Given the description of an element on the screen output the (x, y) to click on. 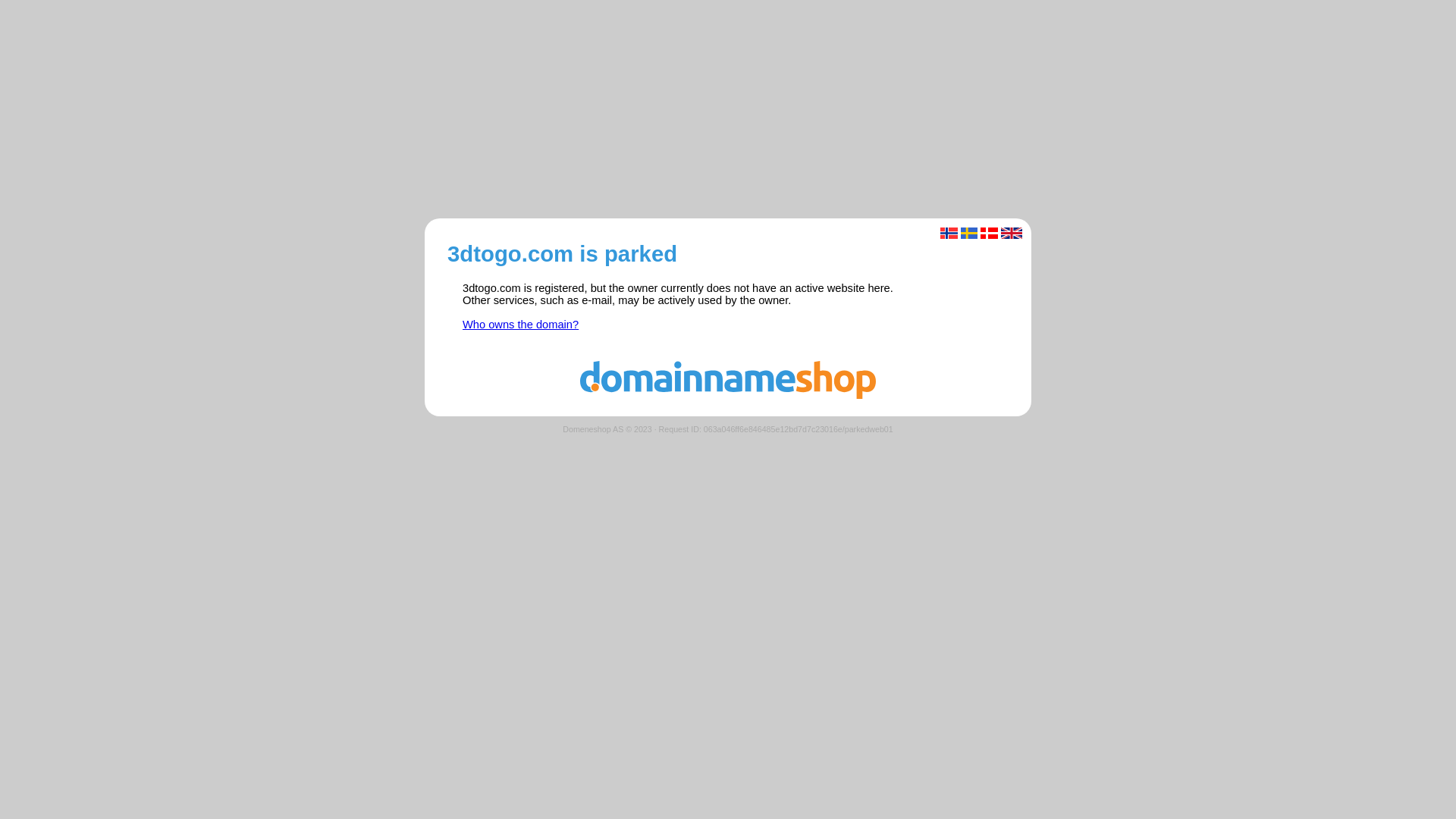
Dansk Element type: hover (988, 232)
Svenska Element type: hover (968, 232)
Norsk Element type: hover (948, 232)
English Element type: hover (1011, 232)
Who owns the domain? Element type: text (520, 324)
